Given the description of an element on the screen output the (x, y) to click on. 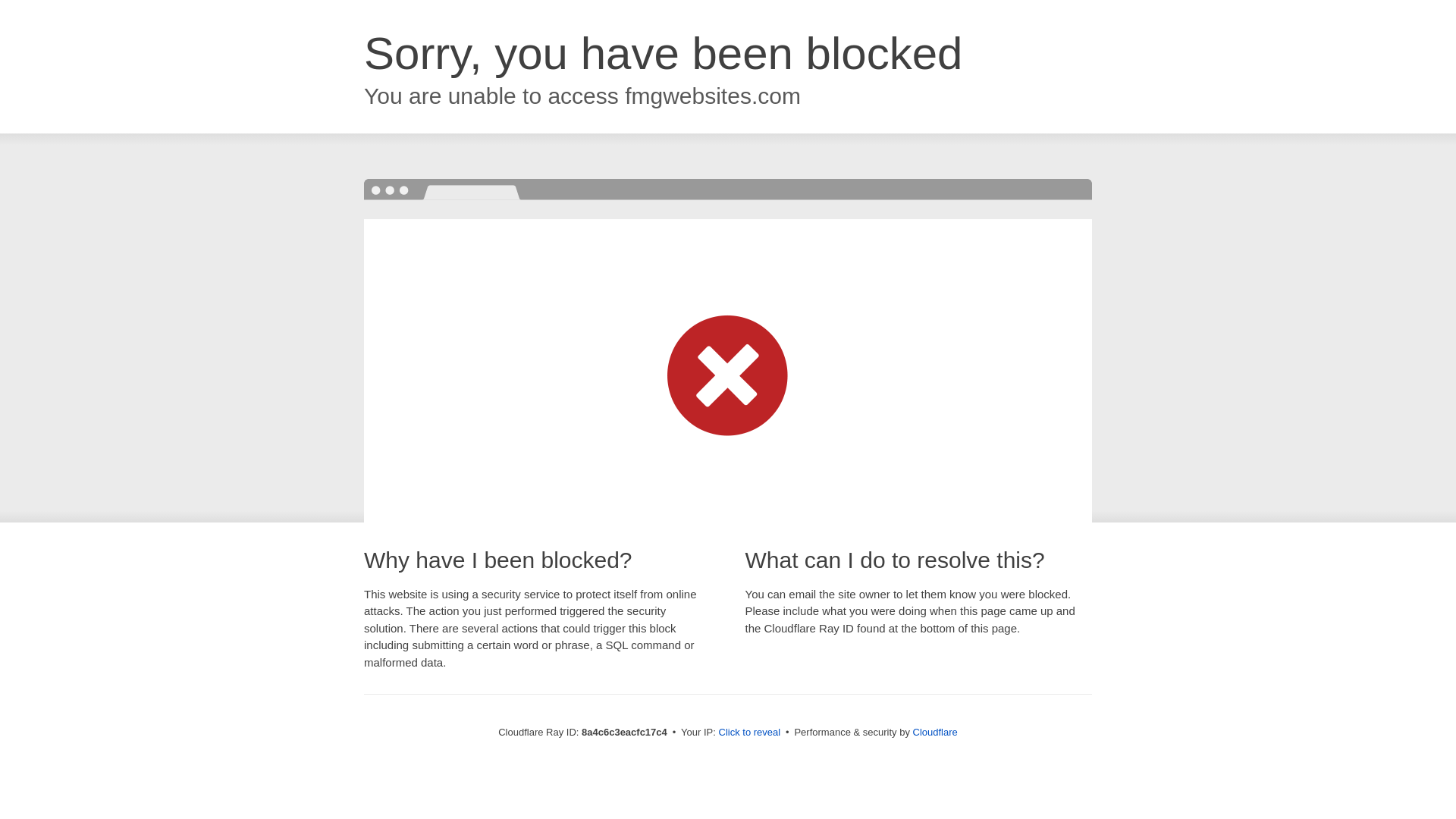
Cloudflare (935, 731)
Click to reveal (749, 732)
